Given the description of an element on the screen output the (x, y) to click on. 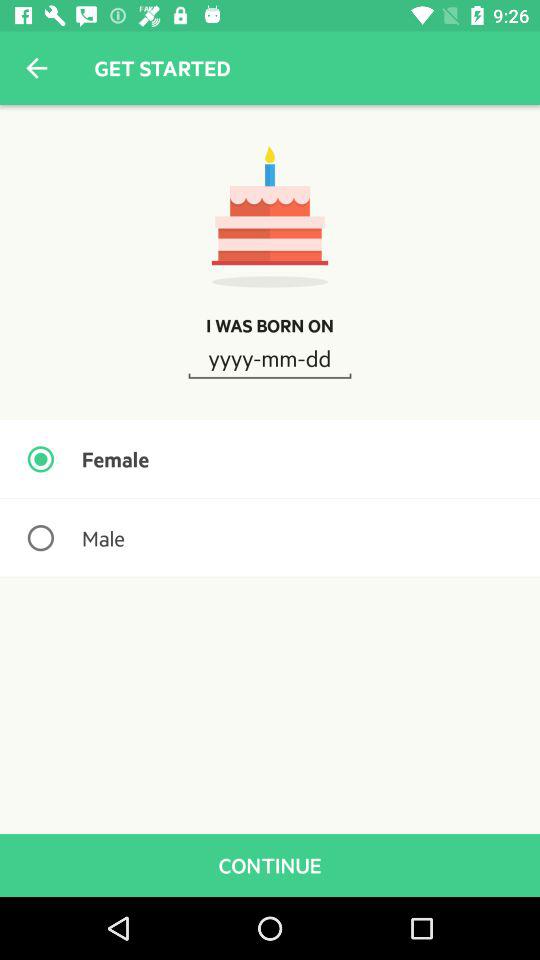
tap item below the yyyy-mm-dd icon (270, 459)
